Given the description of an element on the screen output the (x, y) to click on. 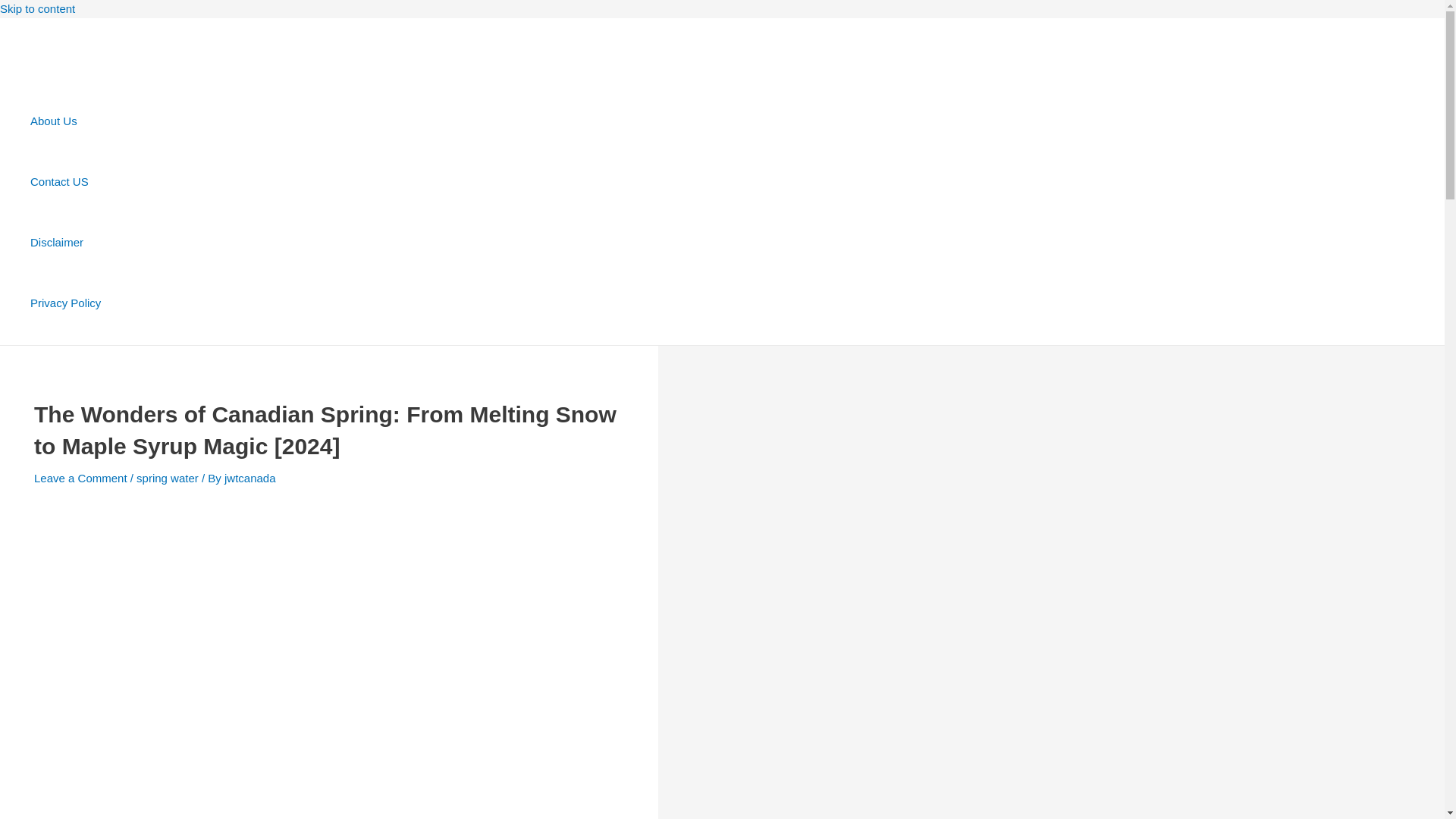
spring water (167, 477)
Skip to content (37, 8)
Disclaimer (65, 242)
View all posts by jwtcanada (250, 477)
jwtcanada (250, 477)
Contact US (65, 181)
Skip to content (37, 8)
Leave a Comment (80, 477)
Privacy Policy (65, 302)
